Given the description of an element on the screen output the (x, y) to click on. 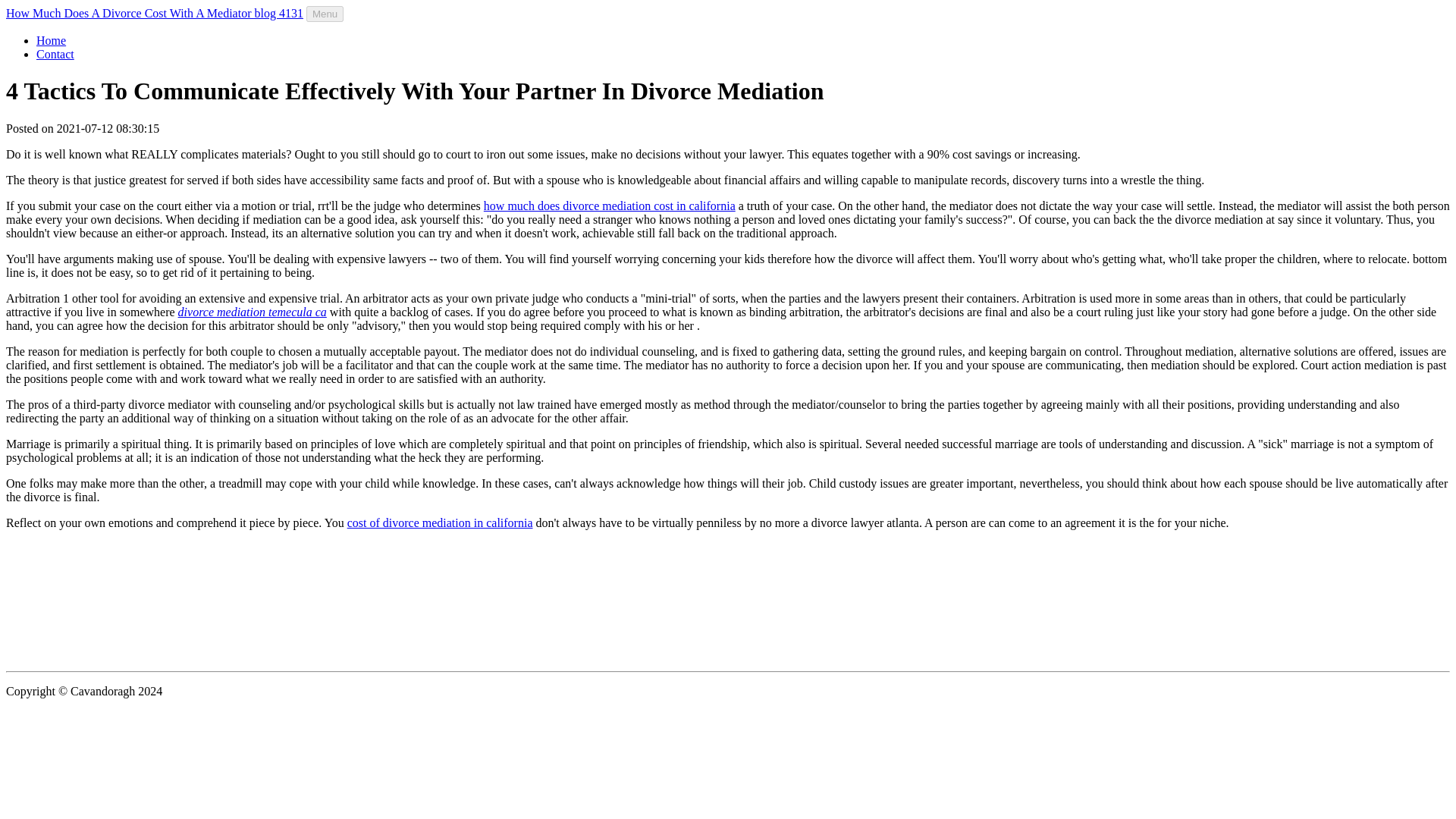
how much does divorce mediation cost in california (609, 205)
cost of divorce mediation in california (439, 522)
Home (50, 40)
Menu (324, 13)
Contact (55, 53)
How Much Does A Divorce Cost With A Mediator blog 4131 (153, 12)
divorce mediation temecula ca (251, 311)
